Given the description of an element on the screen output the (x, y) to click on. 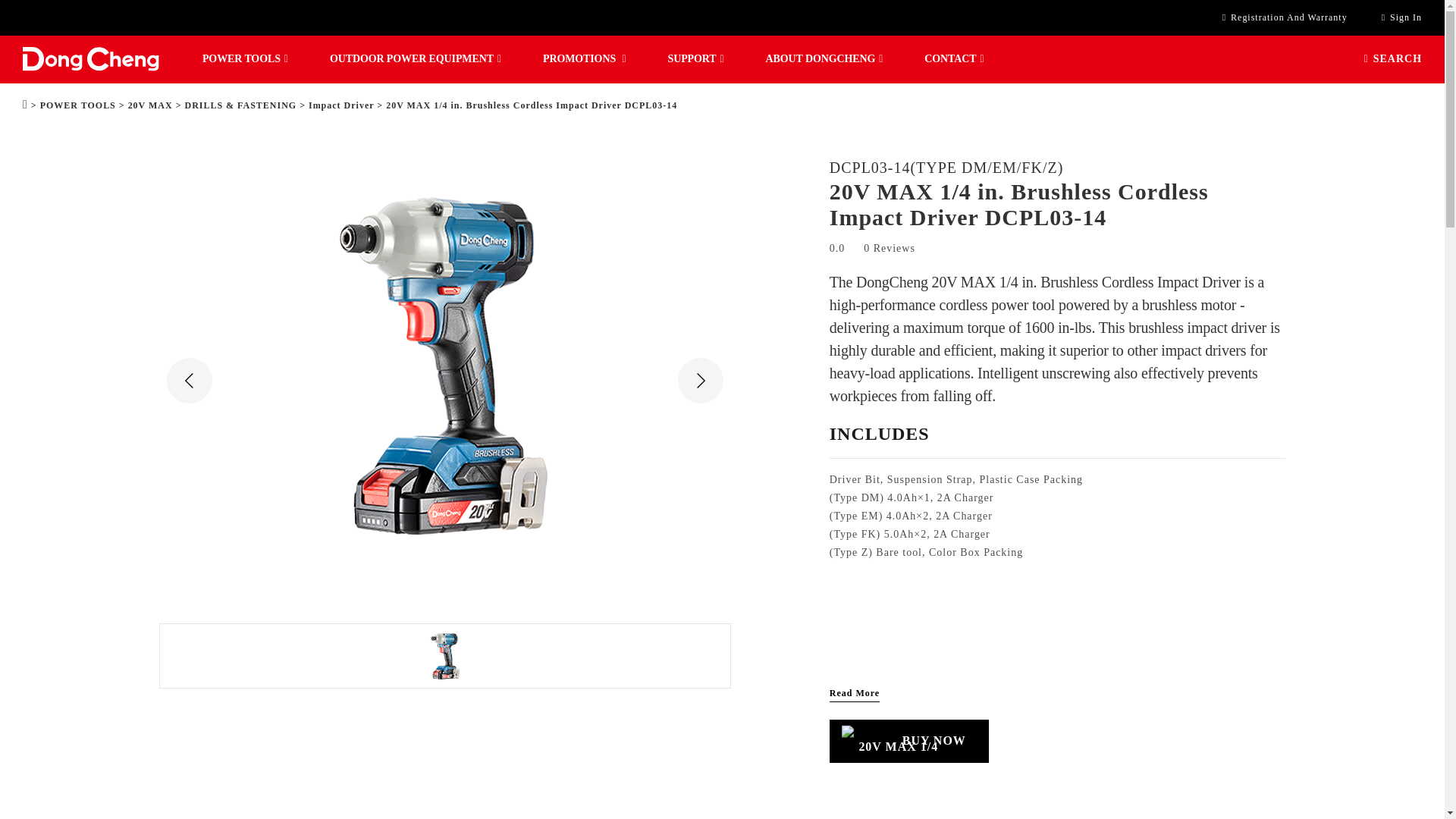
Sign In (1401, 18)
POWER TOOLS (245, 59)
Registration And Warranty (1285, 18)
